Given the description of an element on the screen output the (x, y) to click on. 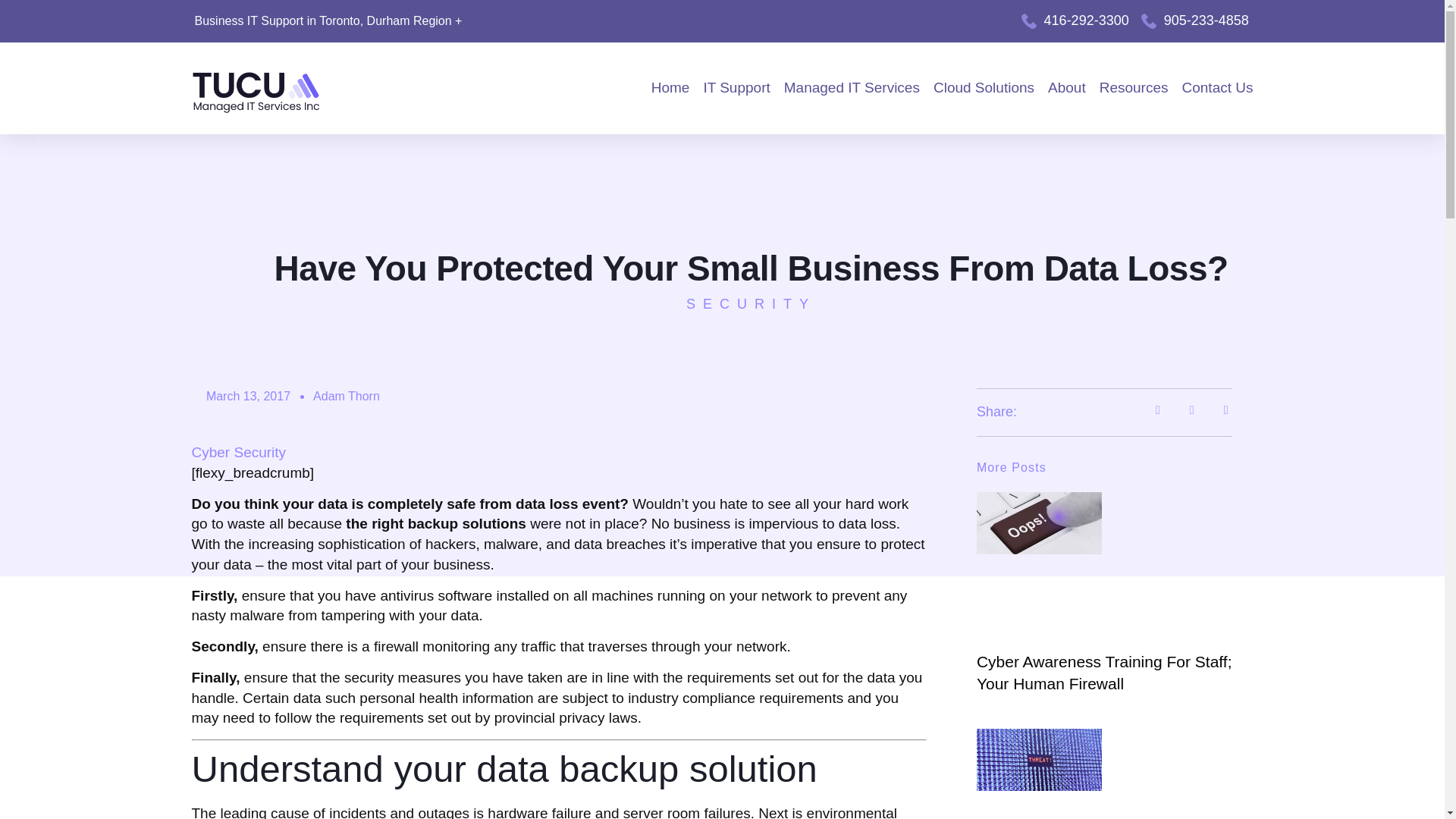
905-233-4858 (1195, 20)
IT Support Services (736, 88)
Resources (1134, 88)
About (1067, 88)
416-292-3300 (1075, 20)
Cloud Solutions (983, 88)
IT Support (736, 88)
Managed IT Services (852, 88)
About Us (1067, 88)
Contact Us (1217, 88)
